Given the description of an element on the screen output the (x, y) to click on. 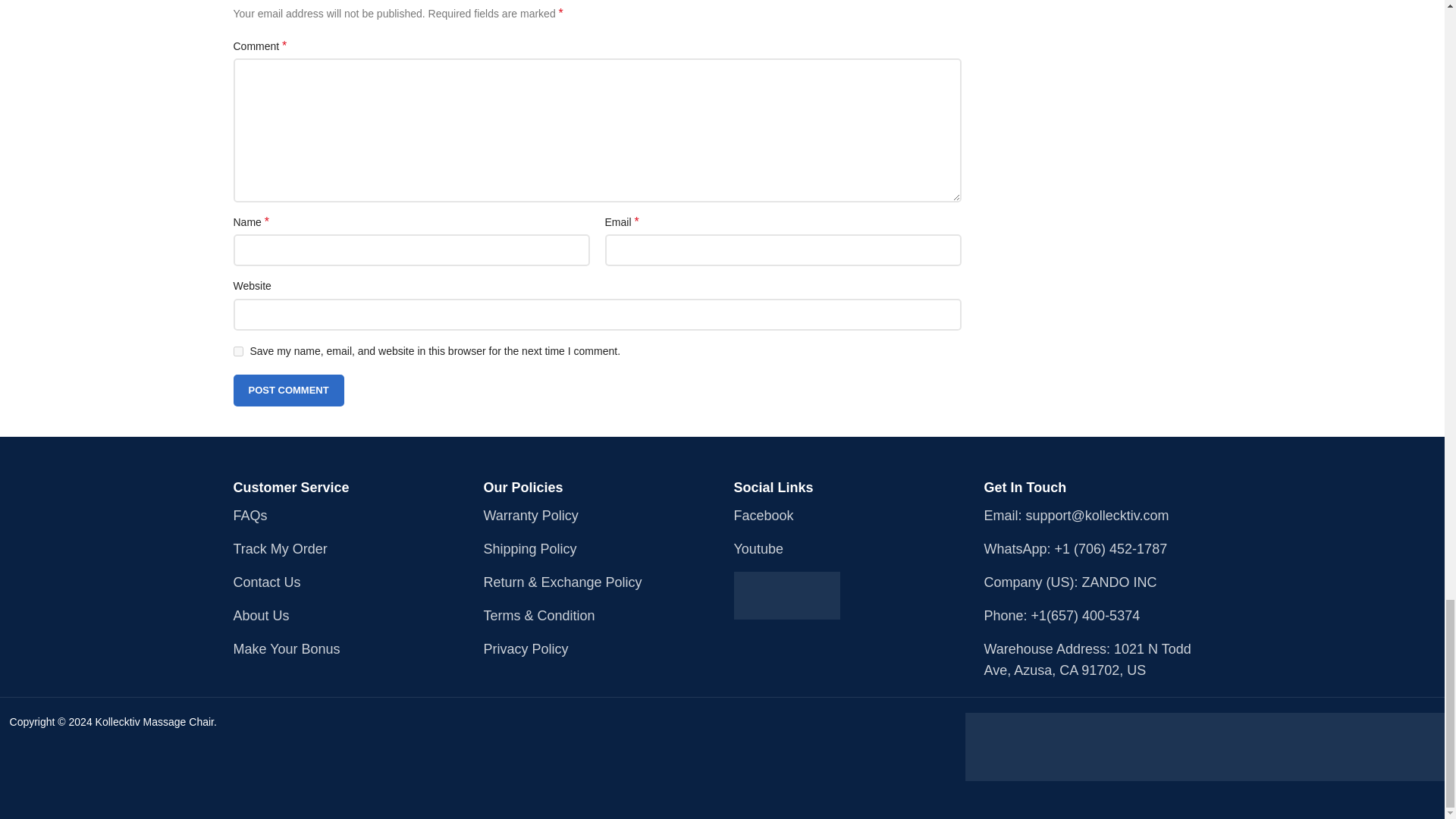
Post Comment (287, 390)
yes (237, 351)
